Given the description of an element on the screen output the (x, y) to click on. 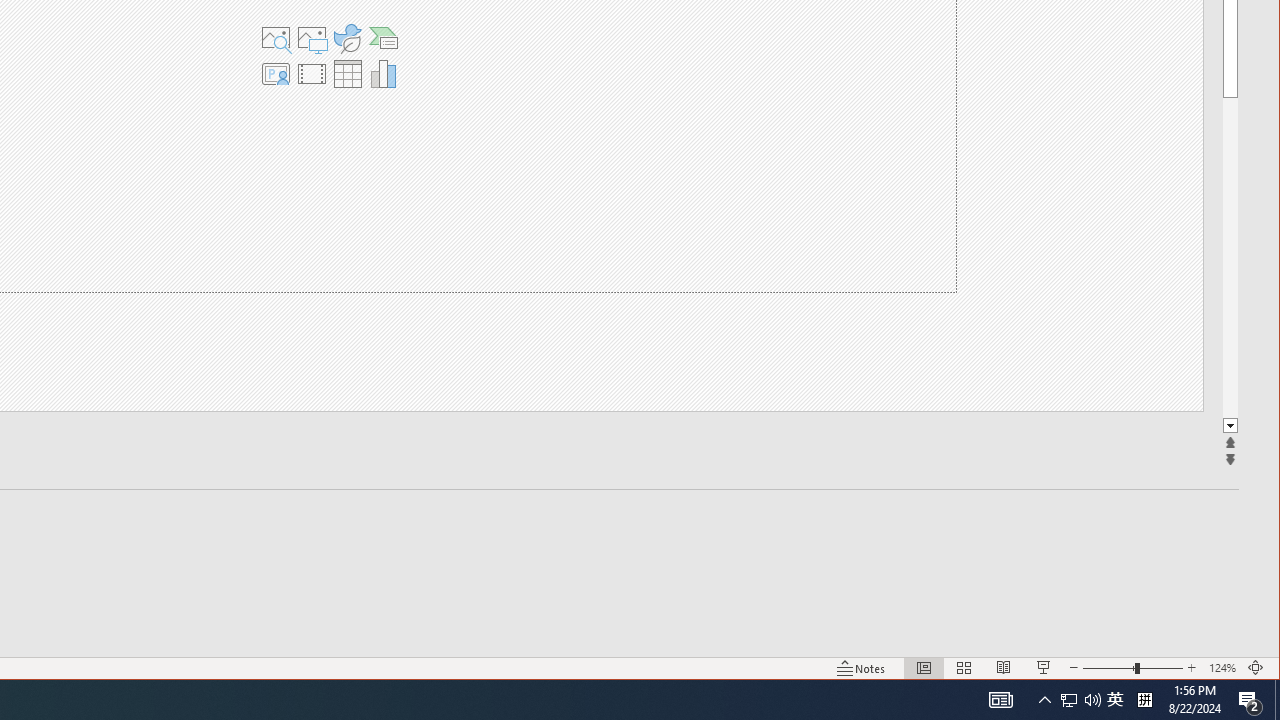
Action Center, 2 new notifications (1250, 699)
Insert Chart (383, 74)
Insert Video (311, 74)
Insert Table (347, 74)
